Given the description of an element on the screen output the (x, y) to click on. 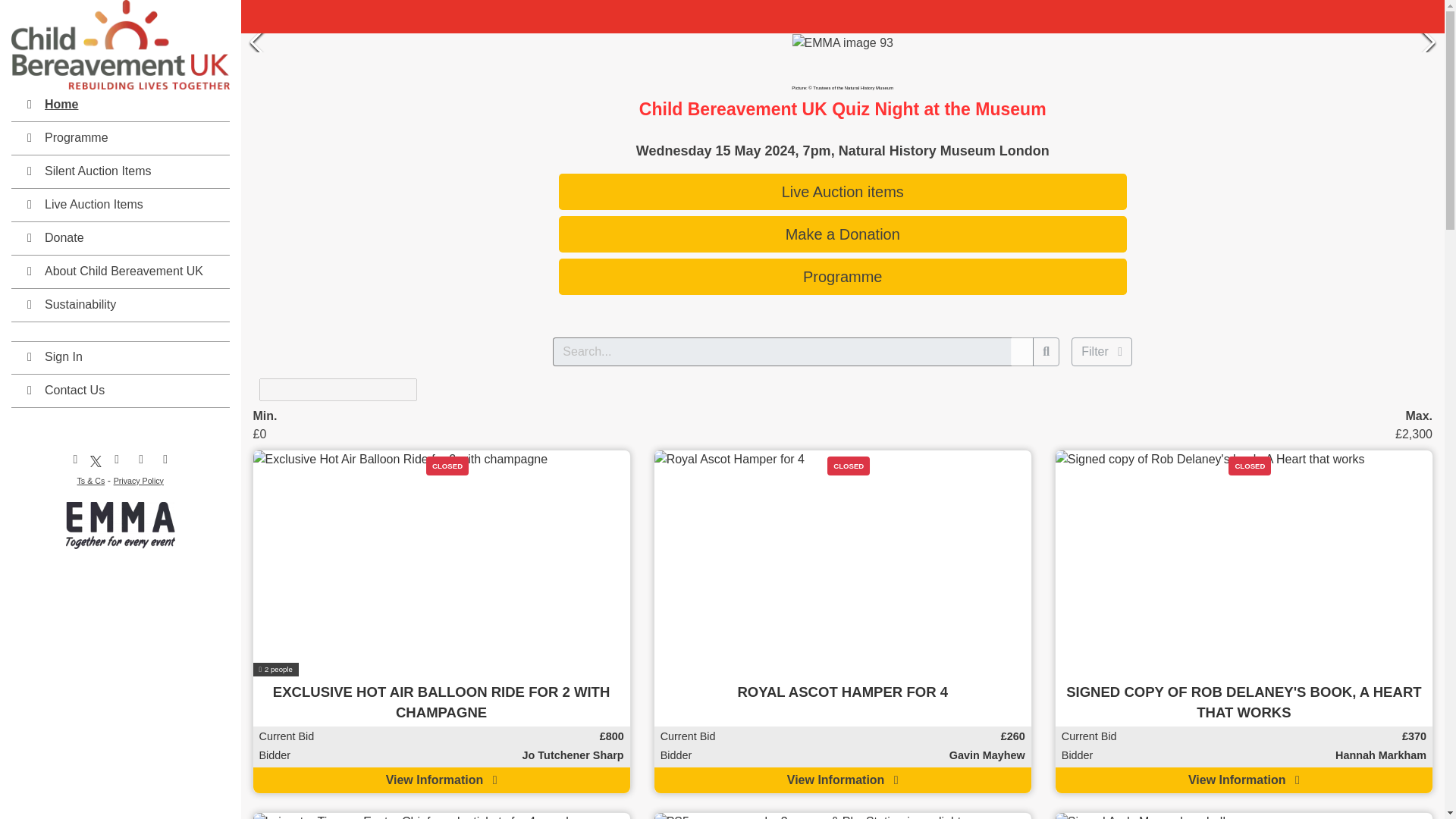
Silent Auction Items (120, 172)
Programme (842, 276)
Sign In (120, 358)
Make a Donation (842, 234)
Programme (120, 138)
About Child Bereavement UK (120, 272)
Home (120, 105)
Live Auction items (842, 191)
Sustainability (120, 305)
Live Auction Items (120, 205)
